Given the description of an element on the screen output the (x, y) to click on. 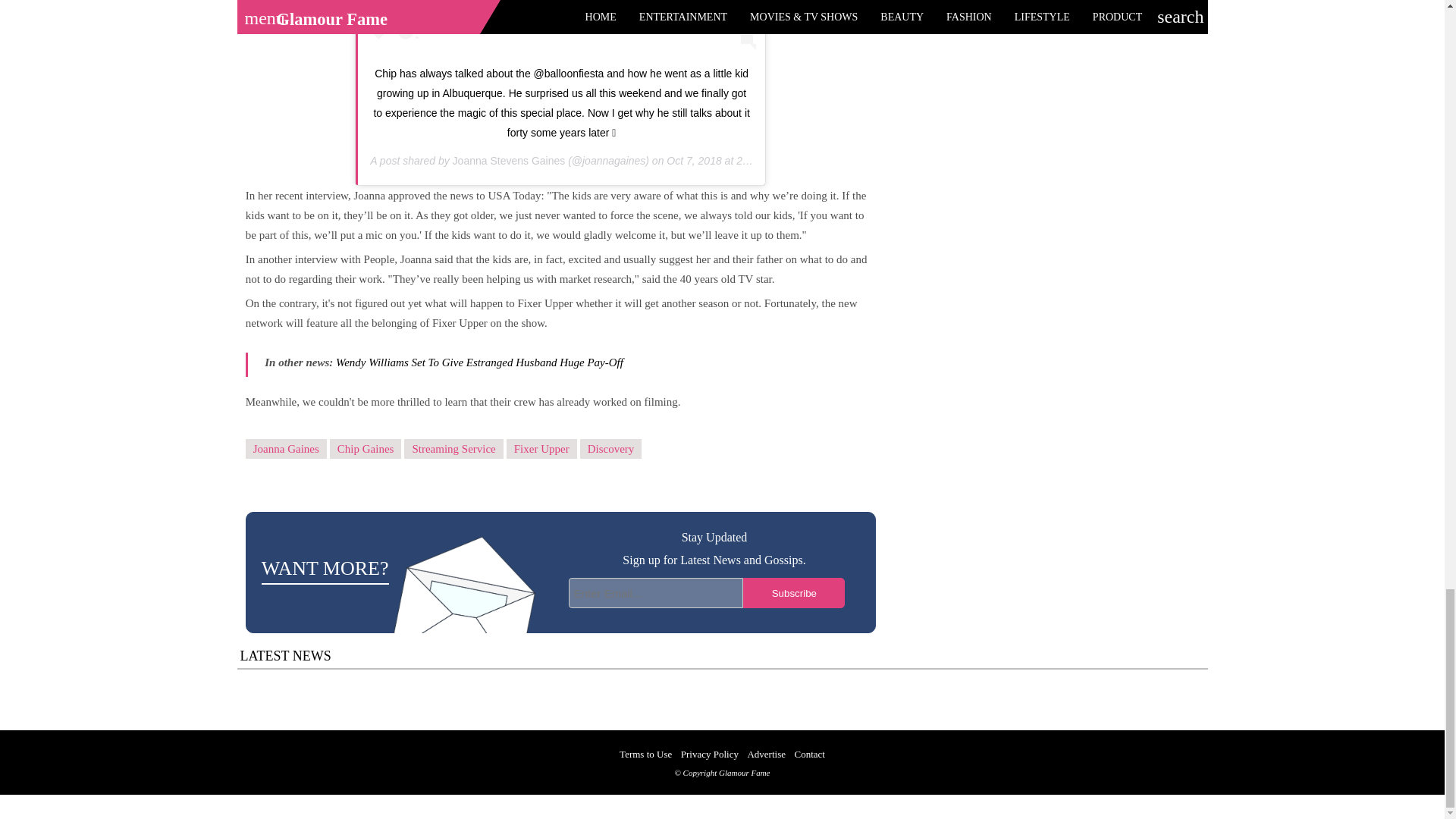
Streaming Service (453, 448)
Fixer Upper (541, 448)
Discovery (610, 448)
Joanna Stevens Gaines (509, 160)
Wendy Williams Set To Give Estranged Husband Huge Pay-Off (479, 362)
Joanna Gaines (286, 448)
Chip Gaines (365, 448)
